Given the description of an element on the screen output the (x, y) to click on. 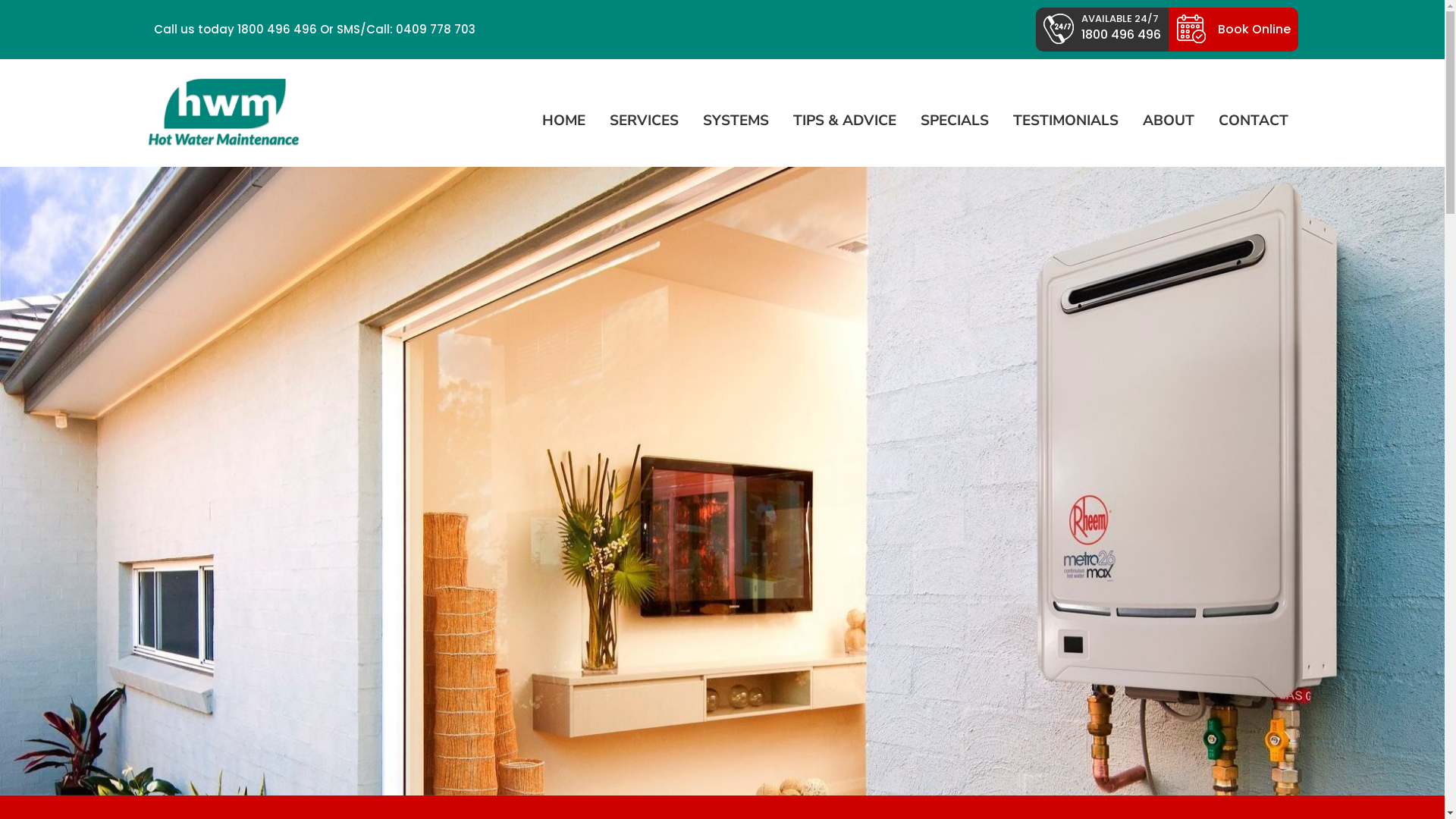
SERVICES Element type: text (644, 120)
TESTIMONIALS Element type: text (1065, 120)
Book Online Element type: text (1233, 29)
SYSTEMS Element type: text (734, 120)
Or SMS/Call: 0409 778 703 Element type: text (397, 26)
ABOUT Element type: text (1167, 120)
HOME Element type: text (562, 120)
SPECIALS Element type: text (954, 120)
TIPS & ADVICE Element type: text (844, 120)
Call us today 1800 496 496 Element type: text (230, 26)
AVAILABLE 24/7
1800 496 496 Element type: text (1101, 29)
CONTACT Element type: text (1252, 120)
